Given the description of an element on the screen output the (x, y) to click on. 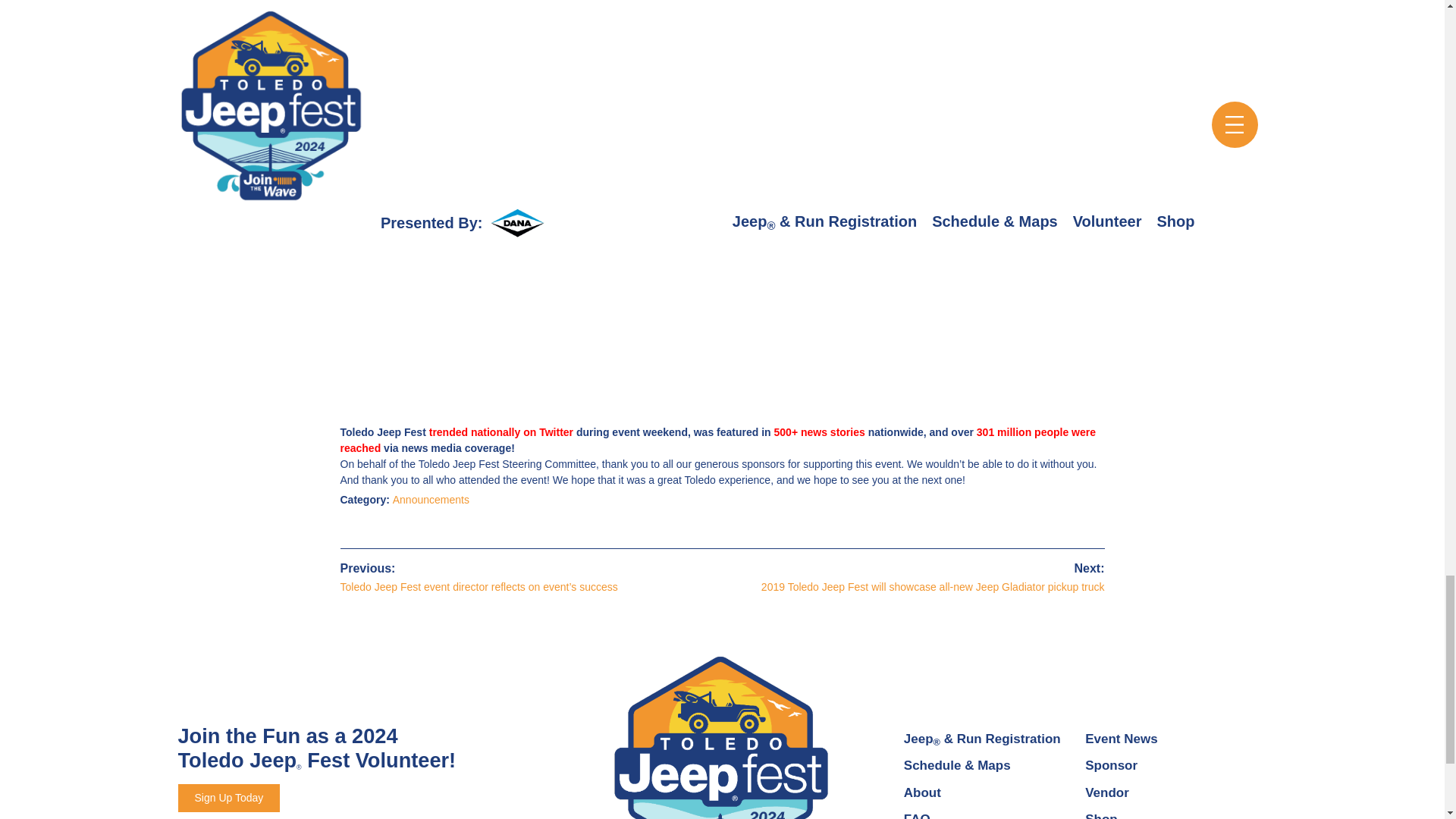
Announcements (430, 499)
Sign Up Today (228, 797)
FAQ (917, 815)
About (922, 792)
Event News (1120, 739)
